Given the description of an element on the screen output the (x, y) to click on. 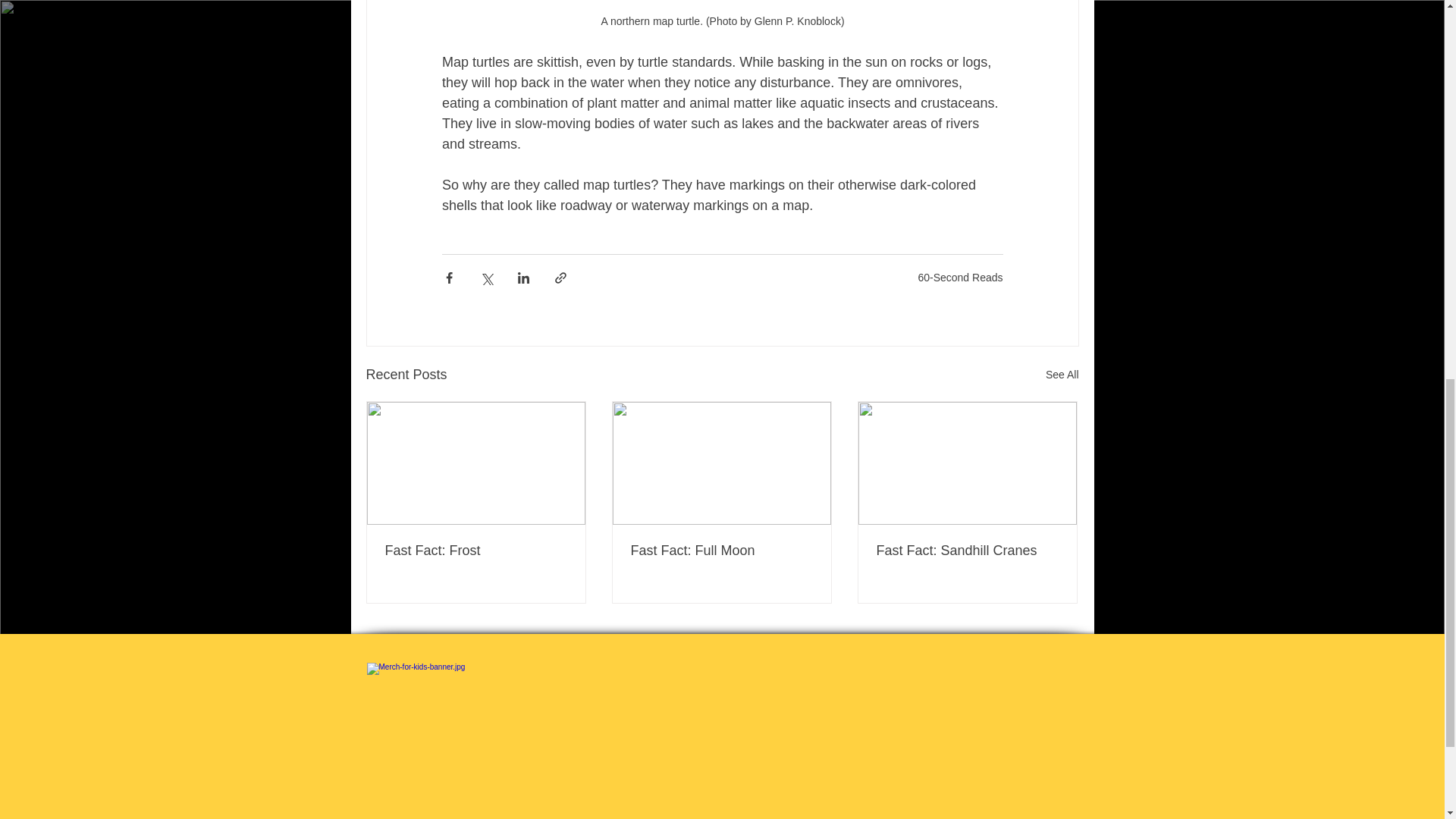
60-Second Reads (960, 277)
Fast Fact: Full Moon (721, 550)
See All (1061, 374)
Merch-for-kids-banner.png (721, 740)
Fast Fact: Sandhill Cranes (967, 550)
Fast Fact: Frost (476, 550)
